Given the description of an element on the screen output the (x, y) to click on. 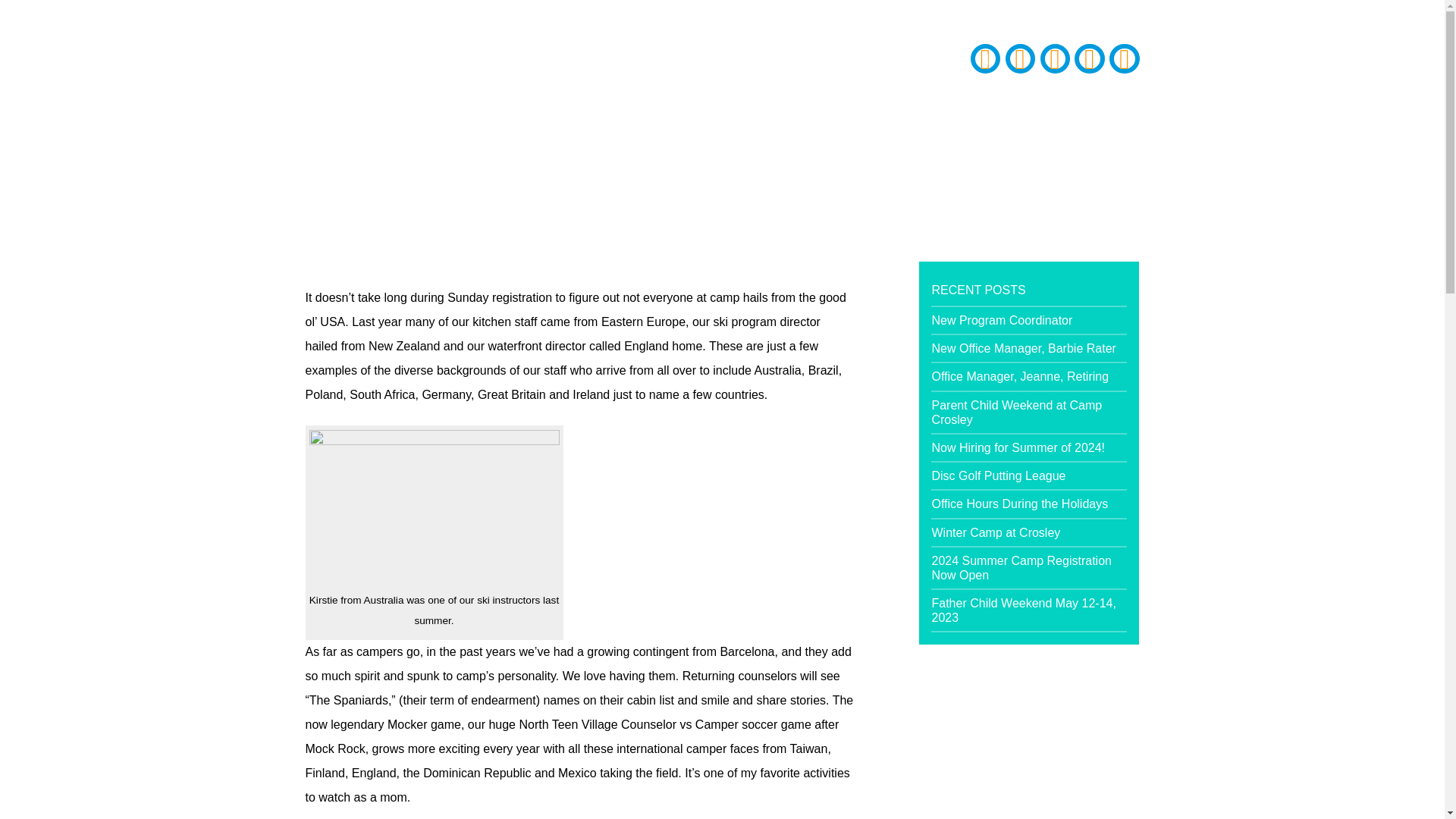
Now Hiring for Summer of 2024! (1018, 447)
Office Manager, Jeanne, Retiring (1019, 376)
New Office Manager, Barbie Rater (1023, 348)
Office Manager, Jeanne, Retiring (1019, 376)
Disc Golf Putting League (998, 475)
CROSLEY EVENTS (777, 103)
SUMMER CAMPS (464, 103)
Father Child Weekend May 12-14, 2023 (1023, 610)
Winter Camp at Crosley (995, 532)
ABOUT US (350, 103)
